Given the description of an element on the screen output the (x, y) to click on. 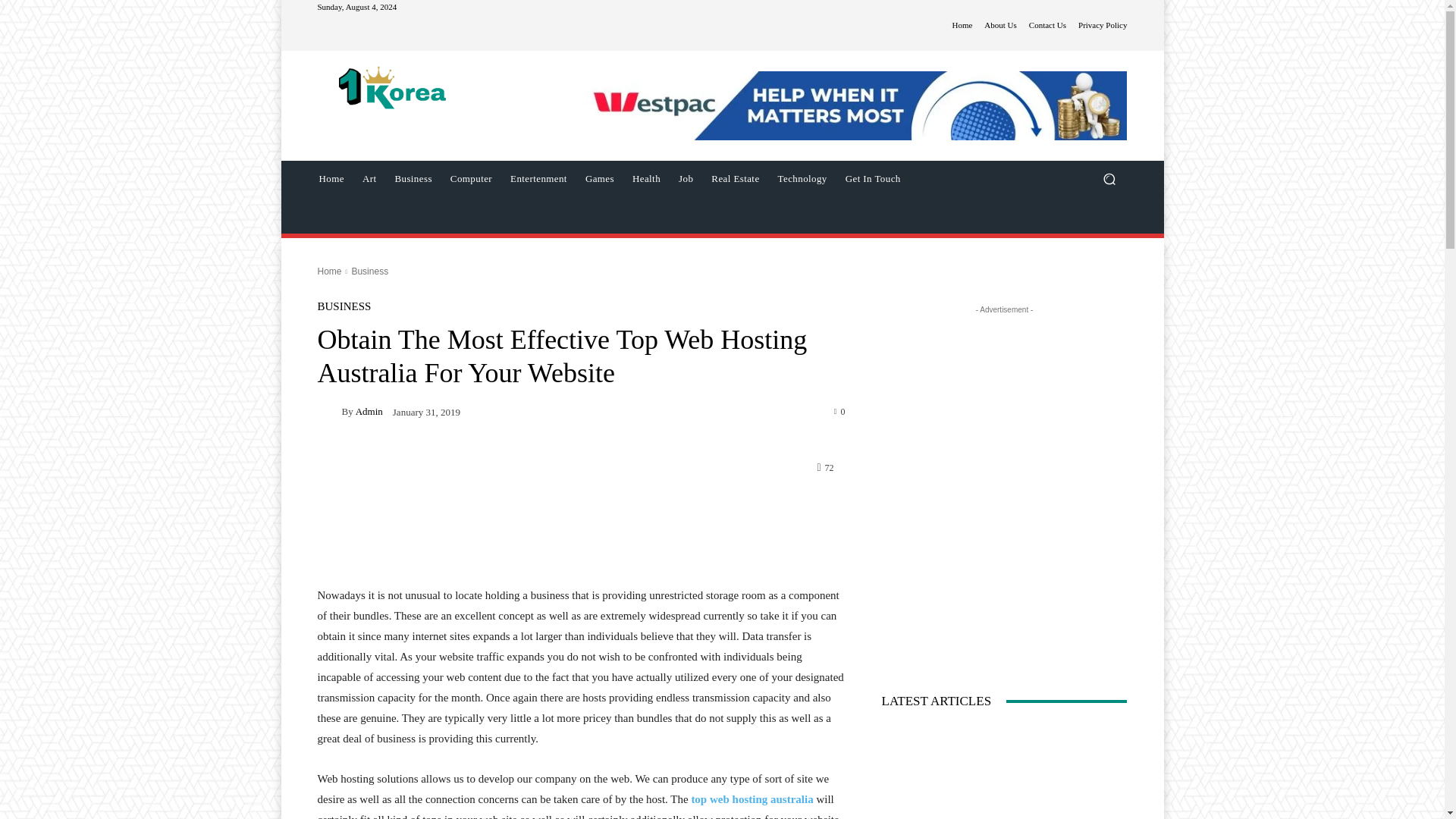
Games (599, 178)
View all posts in Business (369, 271)
Get In Touch (872, 178)
Contact Us (1047, 25)
Technology (801, 178)
Job (685, 178)
Home (330, 178)
Art (369, 178)
Real Estate (734, 178)
admin (328, 411)
